Given the description of an element on the screen output the (x, y) to click on. 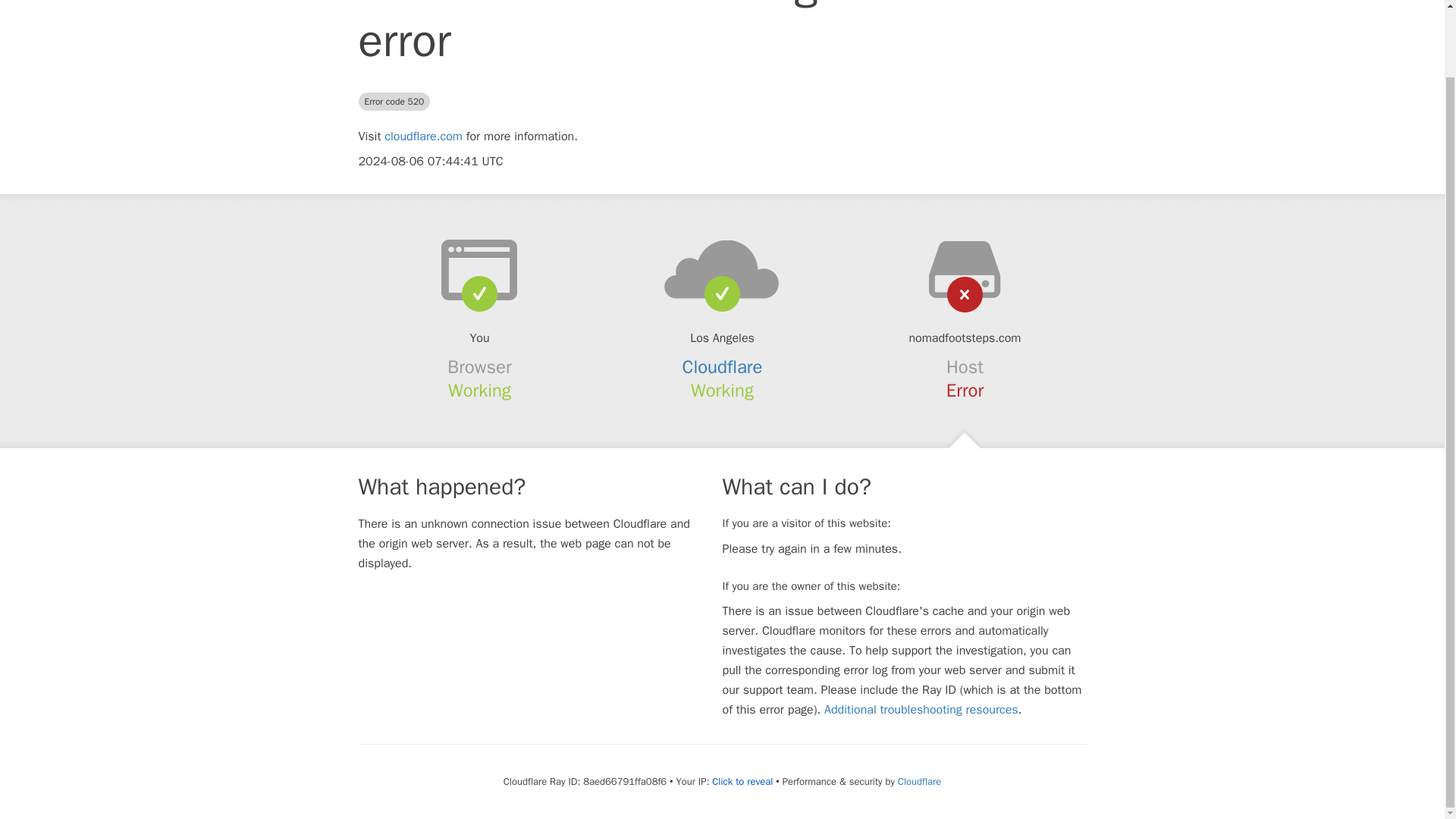
cloudflare.com (423, 136)
Cloudflare (919, 780)
Click to reveal (742, 781)
Additional troubleshooting resources (920, 709)
Cloudflare (722, 366)
